Given the description of an element on the screen output the (x, y) to click on. 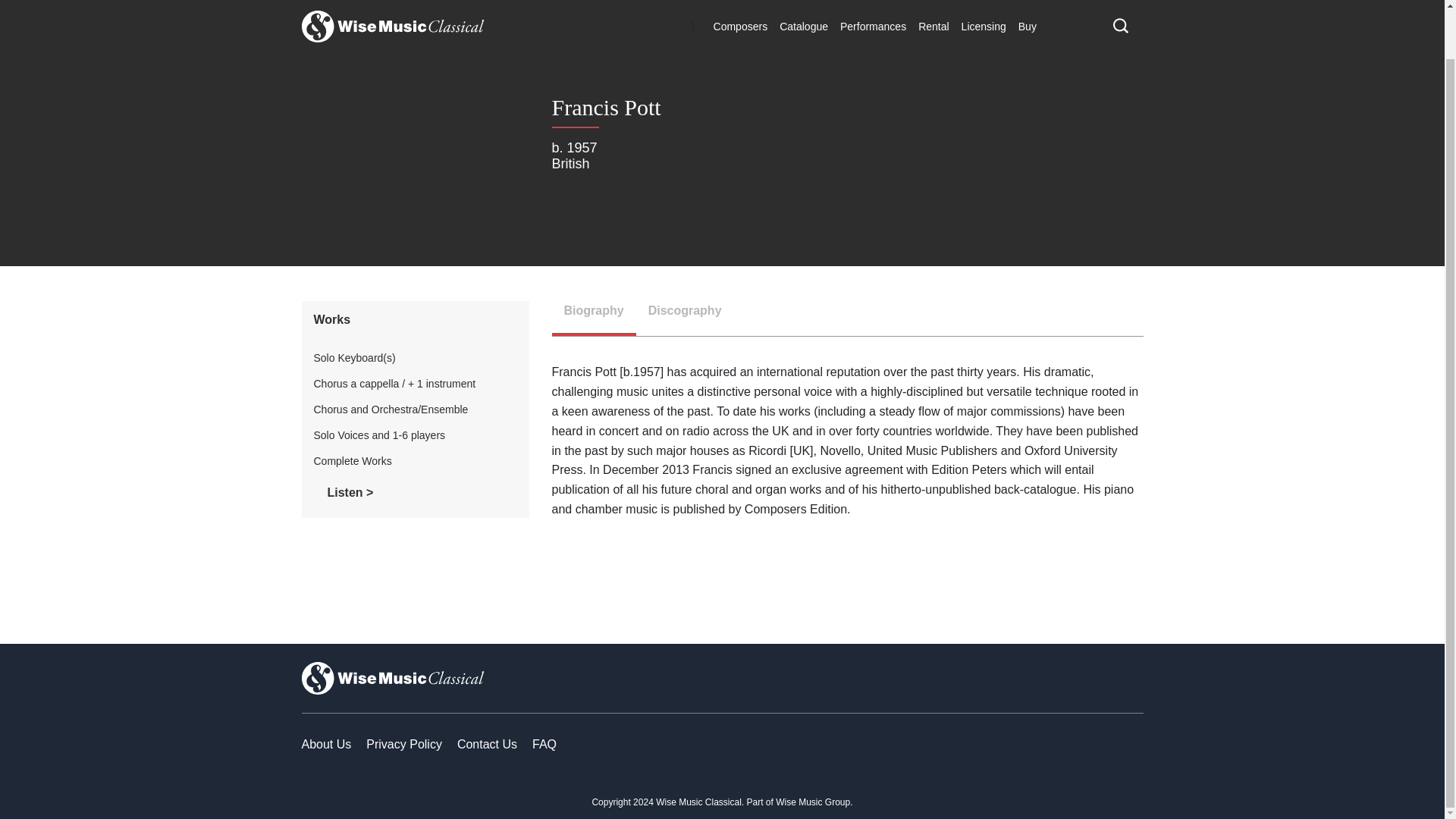
About Us (326, 744)
Privacy Policy (404, 744)
Contact Us (486, 744)
YouTube (1125, 744)
FAQ (544, 744)
Solo Voices and 1-6 players (379, 435)
Complete Works (352, 460)
Twitter (1055, 744)
Facebook (1020, 744)
Discography (684, 318)
